Given the description of an element on the screen output the (x, y) to click on. 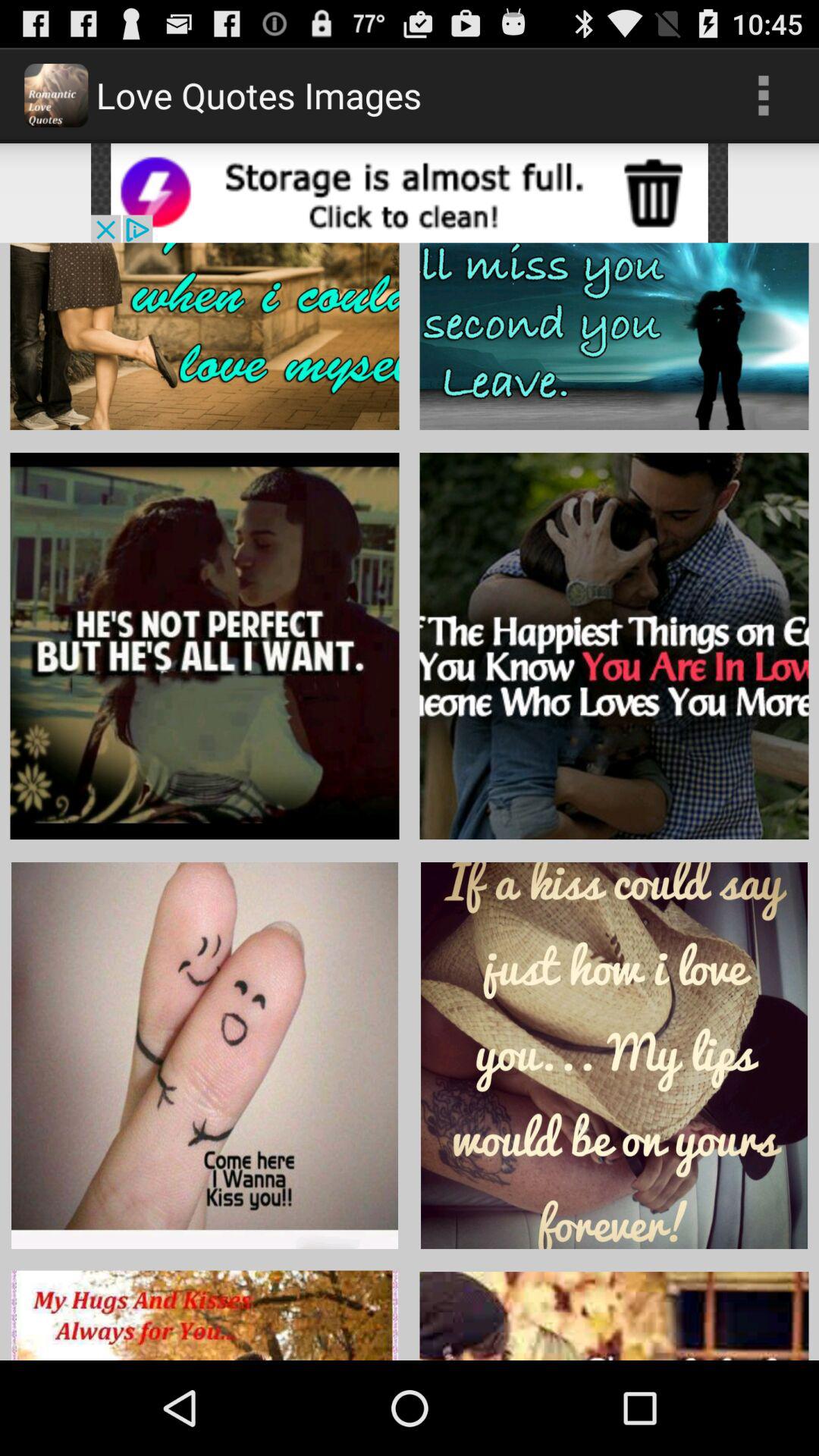
go to advertisement page (409, 192)
